Given the description of an element on the screen output the (x, y) to click on. 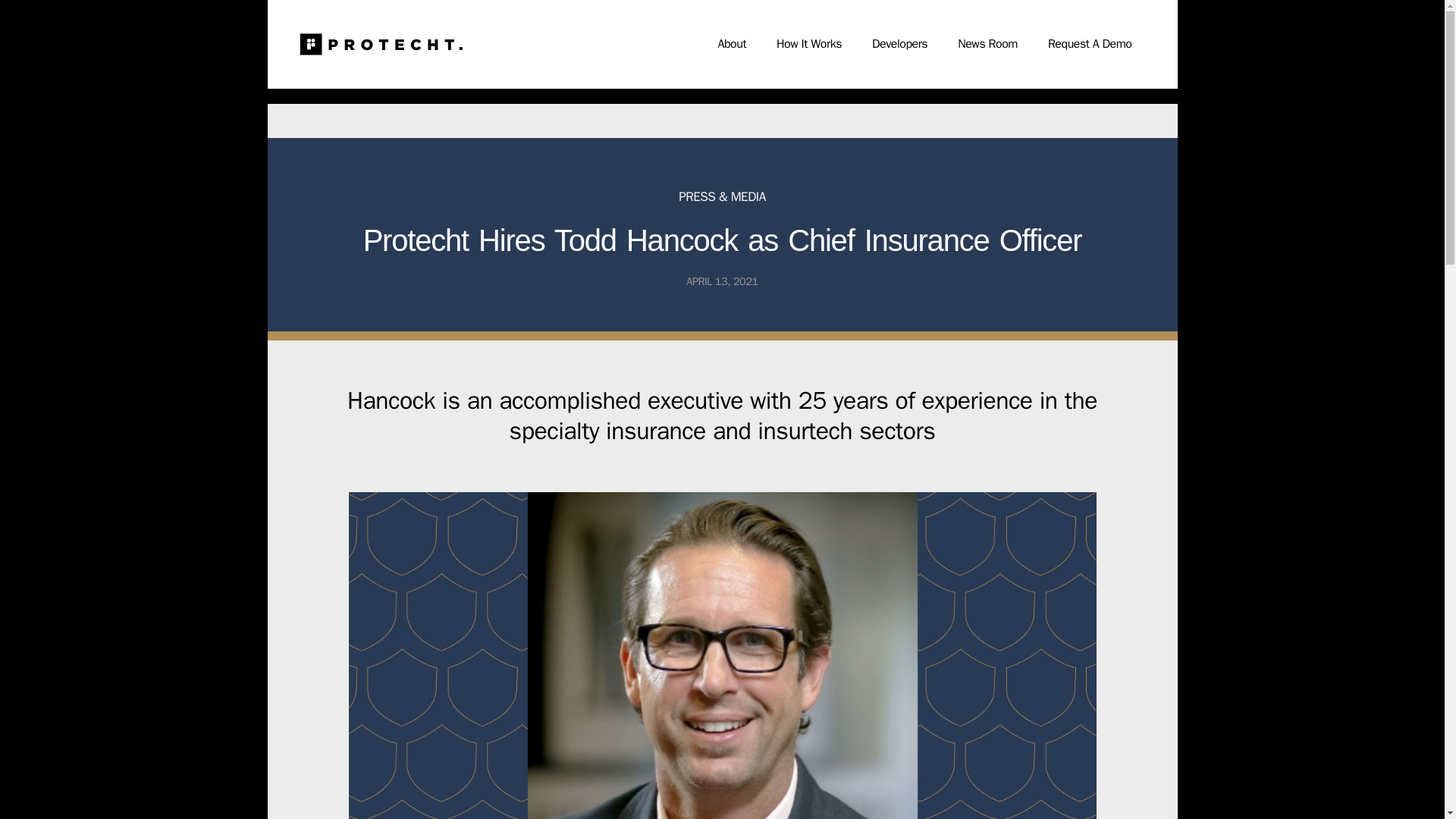
Developers (899, 40)
How It Works (809, 40)
Request A Demo (1089, 40)
News Room (987, 40)
About (731, 40)
